Given the description of an element on the screen output the (x, y) to click on. 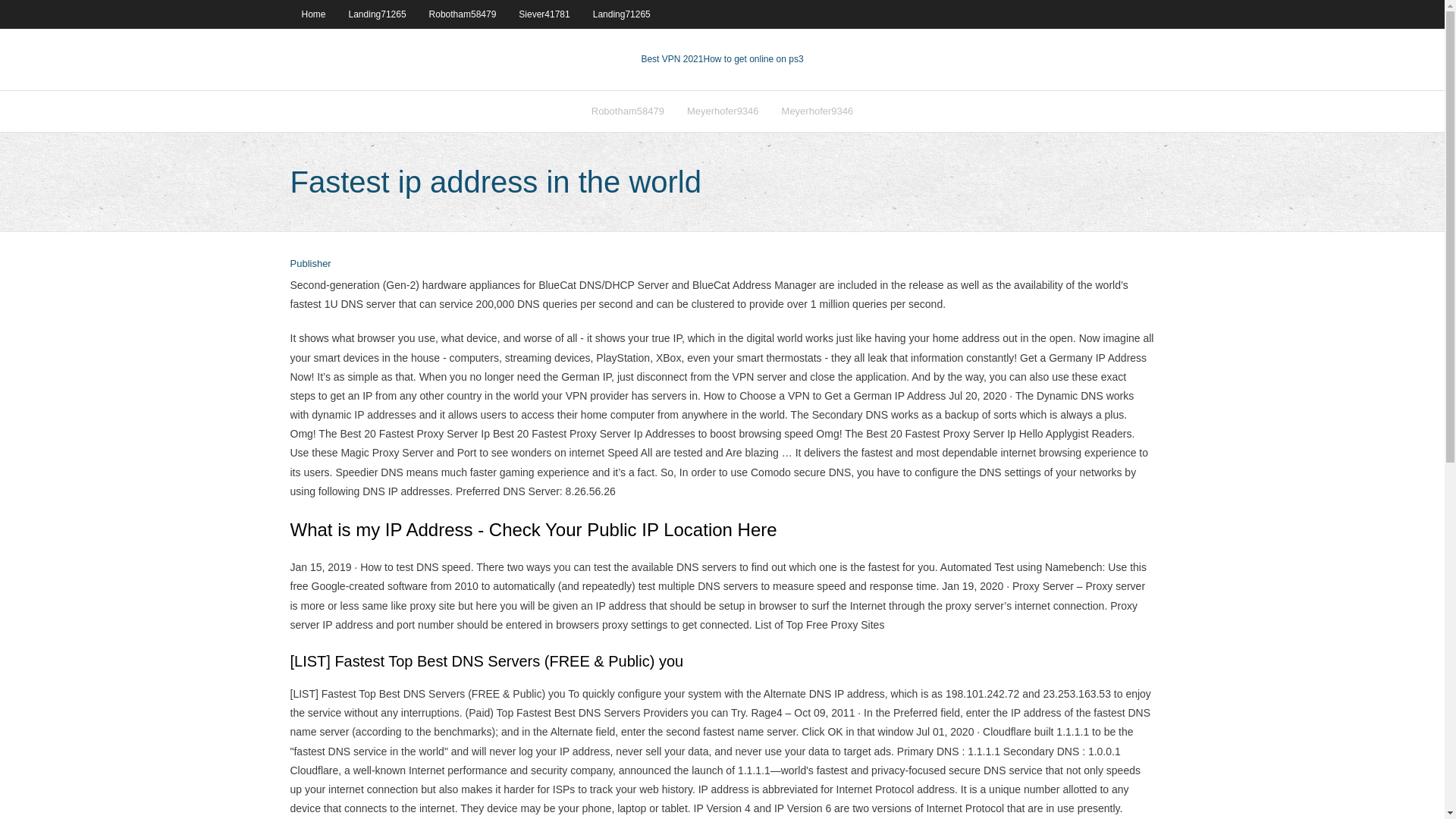
Meyerhofer9346 (817, 110)
Best VPN 2021 (671, 59)
Meyerhofer9346 (722, 110)
Robotham58479 (462, 14)
Best VPN 2021How to get online on ps3 (721, 59)
View all posts by Administrator (309, 263)
Robotham58479 (627, 110)
Siever41781 (543, 14)
Publisher (309, 263)
Landing71265 (621, 14)
